Given the description of an element on the screen output the (x, y) to click on. 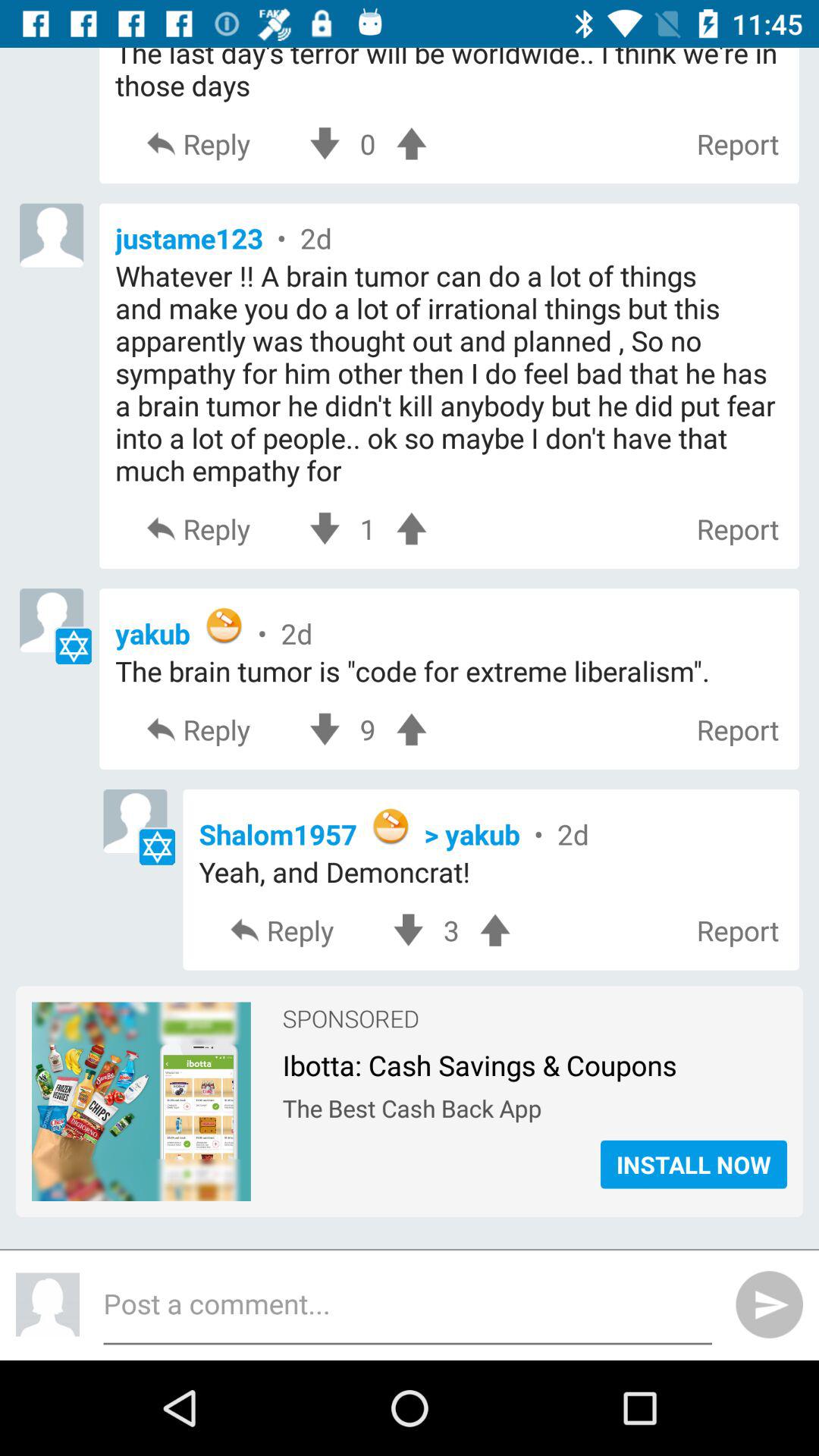
click the item next to the install now item (140, 1180)
